Given the description of an element on the screen output the (x, y) to click on. 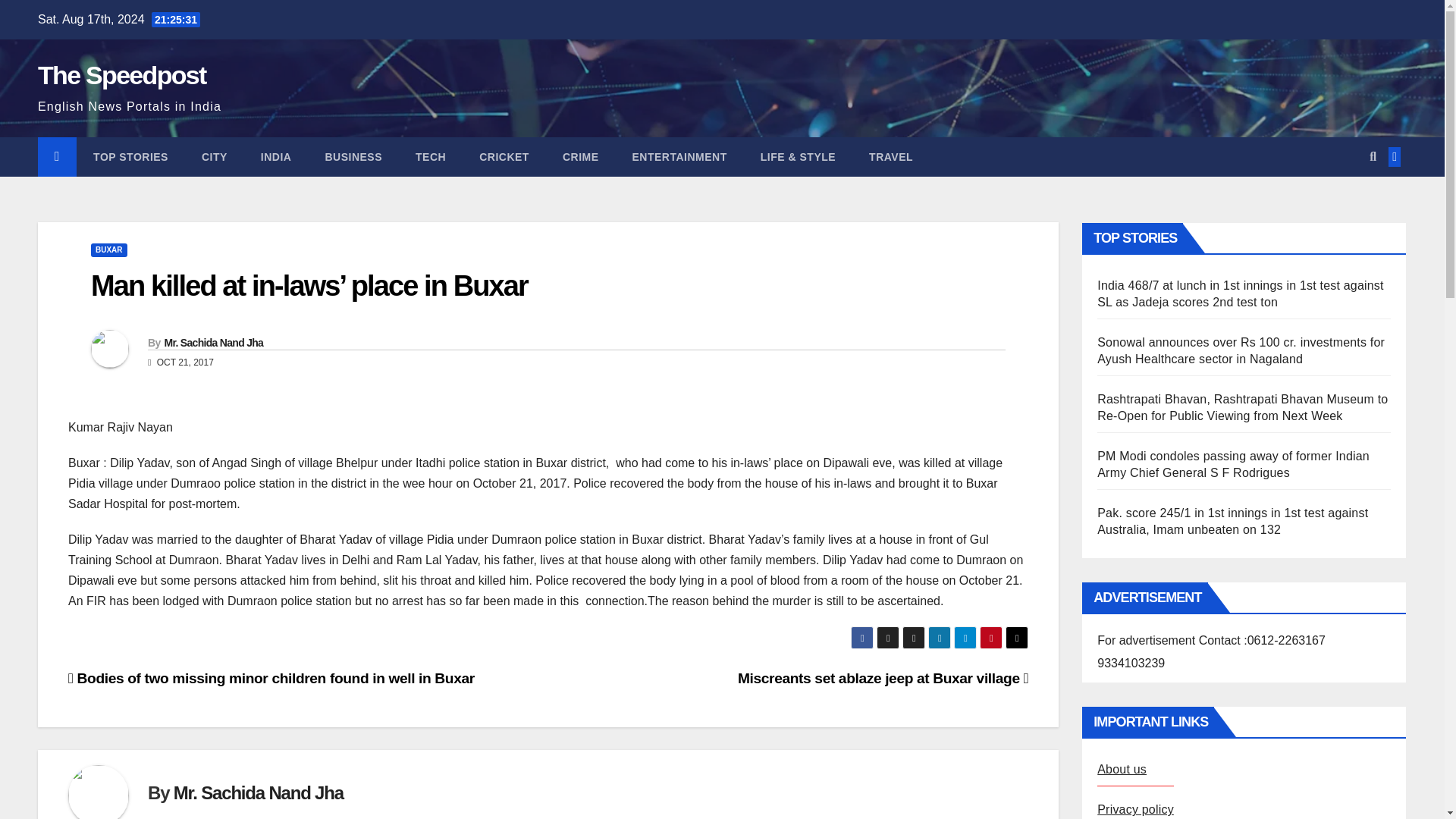
ENTERTAINMENT (679, 156)
INDIA (276, 156)
Miscreants set ablaze jeep at Buxar village (882, 678)
Tech (430, 156)
The Speedpost (121, 74)
Travel (890, 156)
CRICKET (504, 156)
TRAVEL (890, 156)
Crime (580, 156)
TOP STORIES (130, 156)
